Given the description of an element on the screen output the (x, y) to click on. 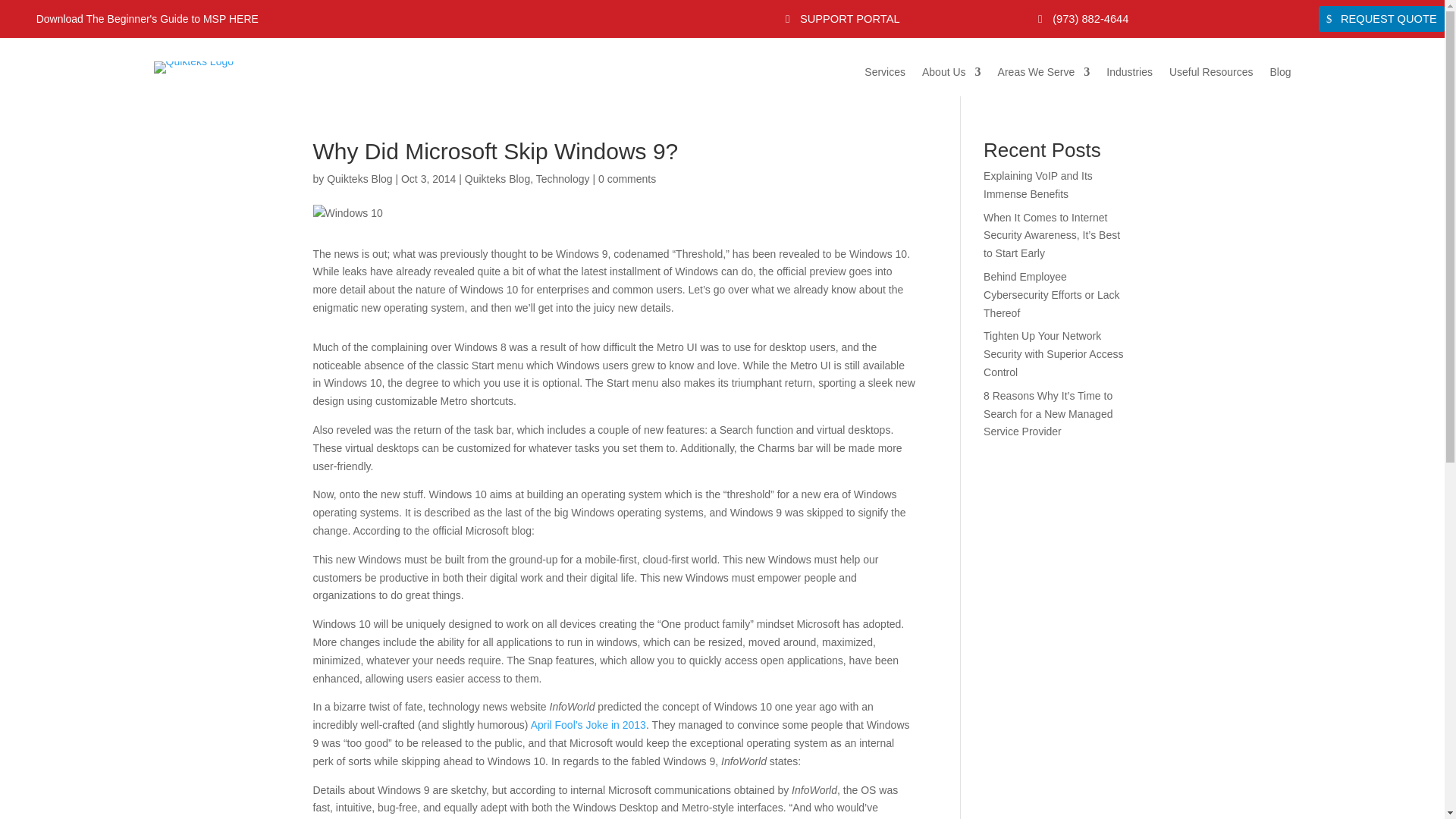
Blog (1279, 77)
About Us (951, 77)
SUPPORT PORTAL (842, 18)
0 comments (627, 178)
Posts by Quikteks Blog (358, 178)
Explaining VoIP and Its Immense Benefits (1038, 184)
Technology (562, 178)
Quikteks Blog (358, 178)
QT-Logo-Black-e1581717168789 (192, 66)
Quikteks Blog (496, 178)
Industries (1129, 77)
Useful Resources (1211, 77)
Areas We Serve (1043, 77)
Services (884, 77)
